Given the description of an element on the screen output the (x, y) to click on. 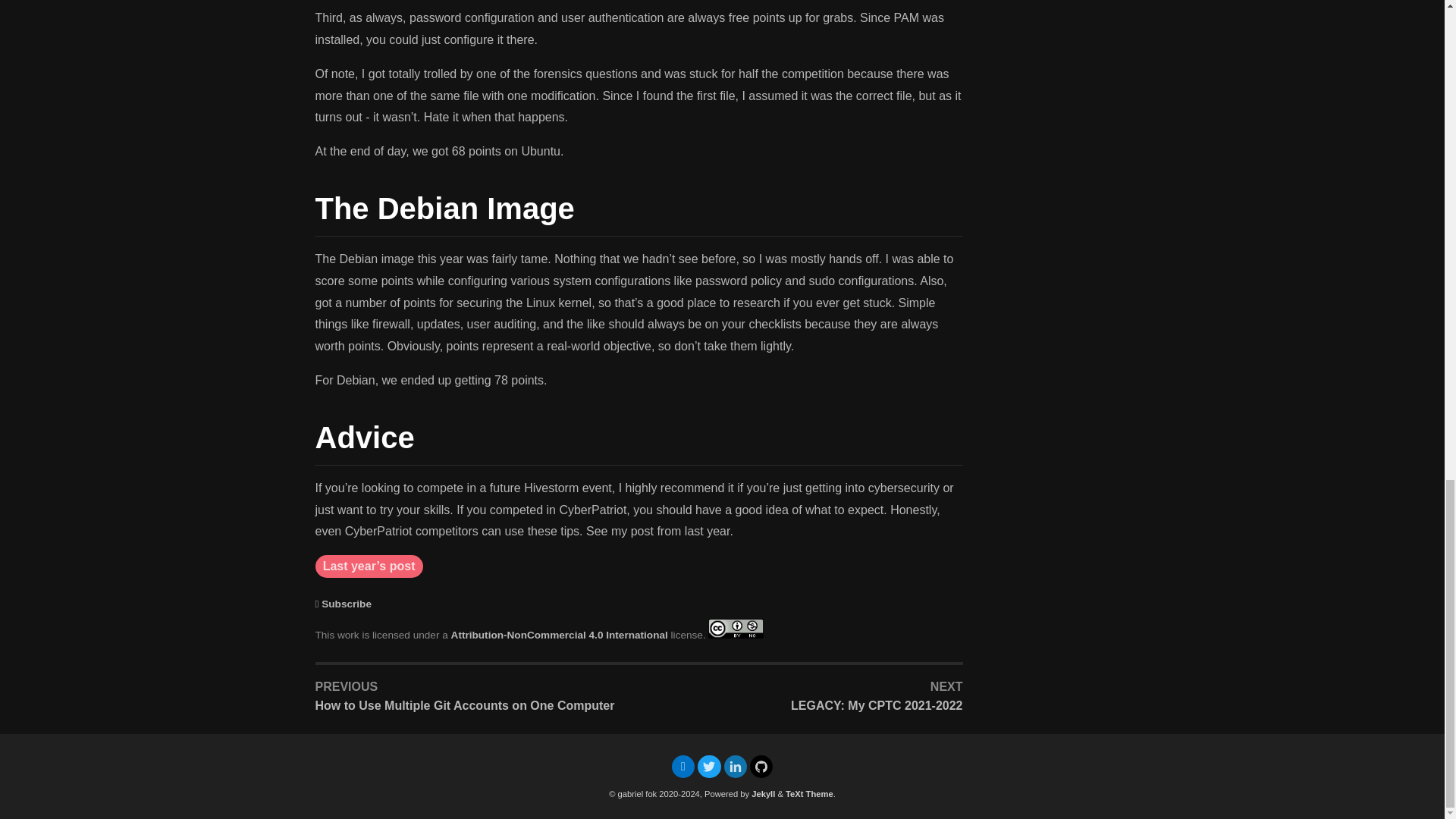
Jekyll is a simple, blog-aware, static site generator. (762, 793)
How to Use Multiple Git Accounts on One Computer (474, 705)
Follow me on Linkedin. (734, 766)
Follow me on Github. (761, 766)
LEGACY: My CPTC 2021-2022 (803, 705)
TeXt is a super customizable Jekyll theme. (809, 793)
Subscribe (346, 603)
Follow me on Twitter. (708, 766)
Jekyll (762, 793)
Attribution-NonCommercial 4.0 International (559, 634)
